Given the description of an element on the screen output the (x, y) to click on. 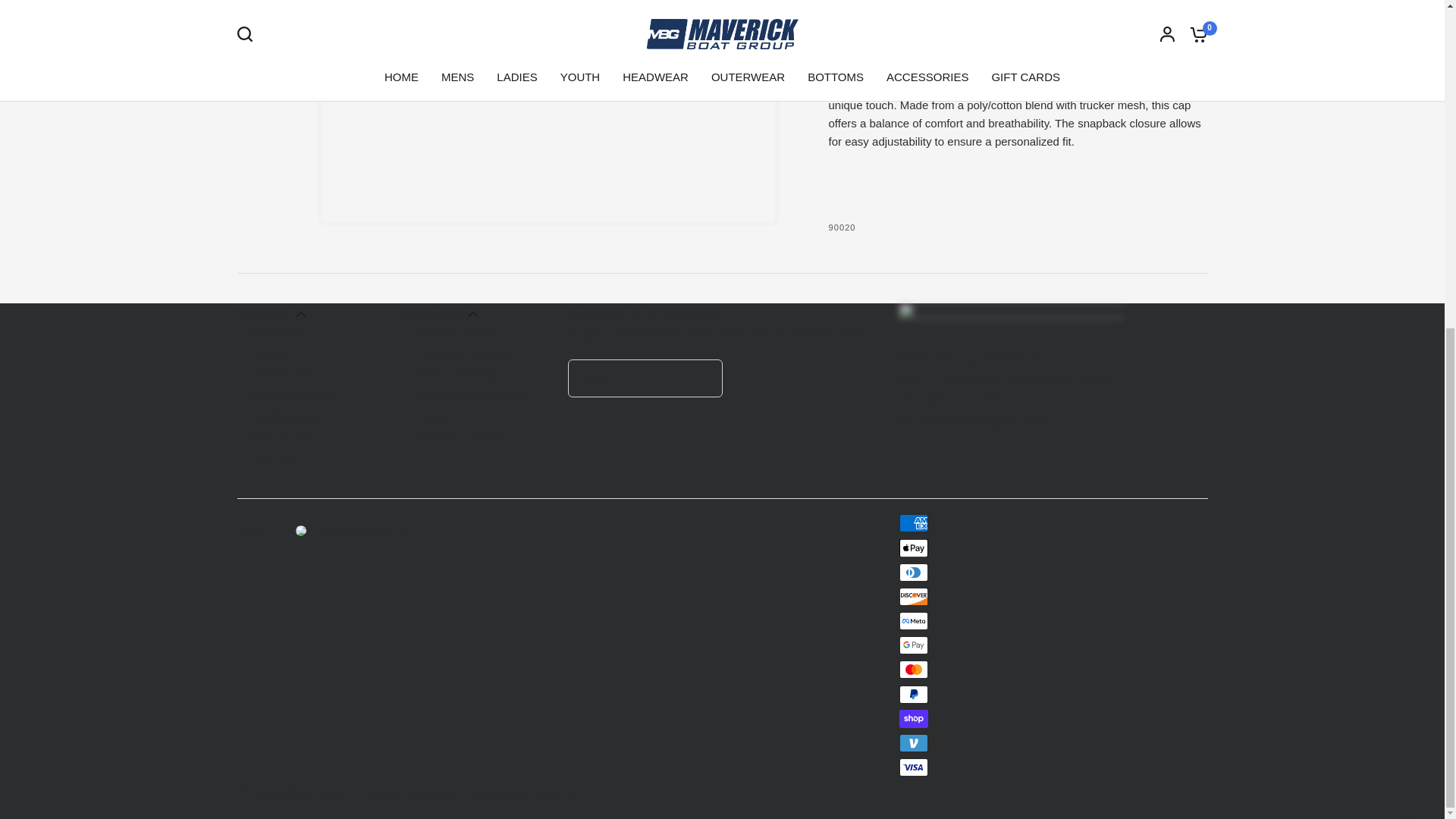
Add to cart (920, 11)
PayPal (913, 694)
Diners Club (913, 572)
Mastercard (913, 669)
Google Pay (913, 645)
American Express (913, 523)
Discover (913, 597)
Meta Pay (913, 620)
Apple Pay (913, 547)
Shop Pay (913, 719)
